Given the description of an element on the screen output the (x, y) to click on. 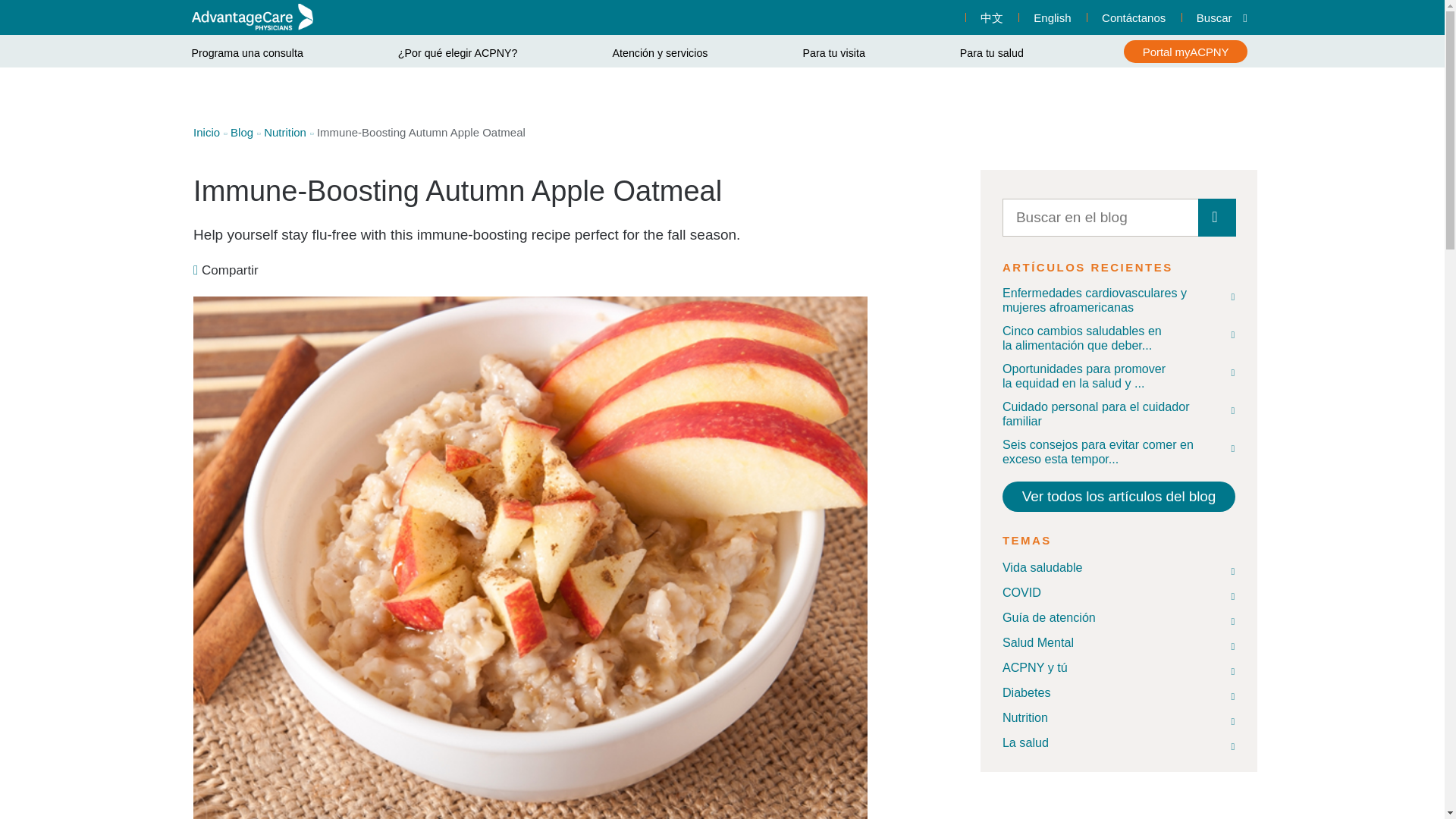
English (1051, 17)
Buscar (1216, 17)
Buscar (1217, 217)
